Given the description of an element on the screen output the (x, y) to click on. 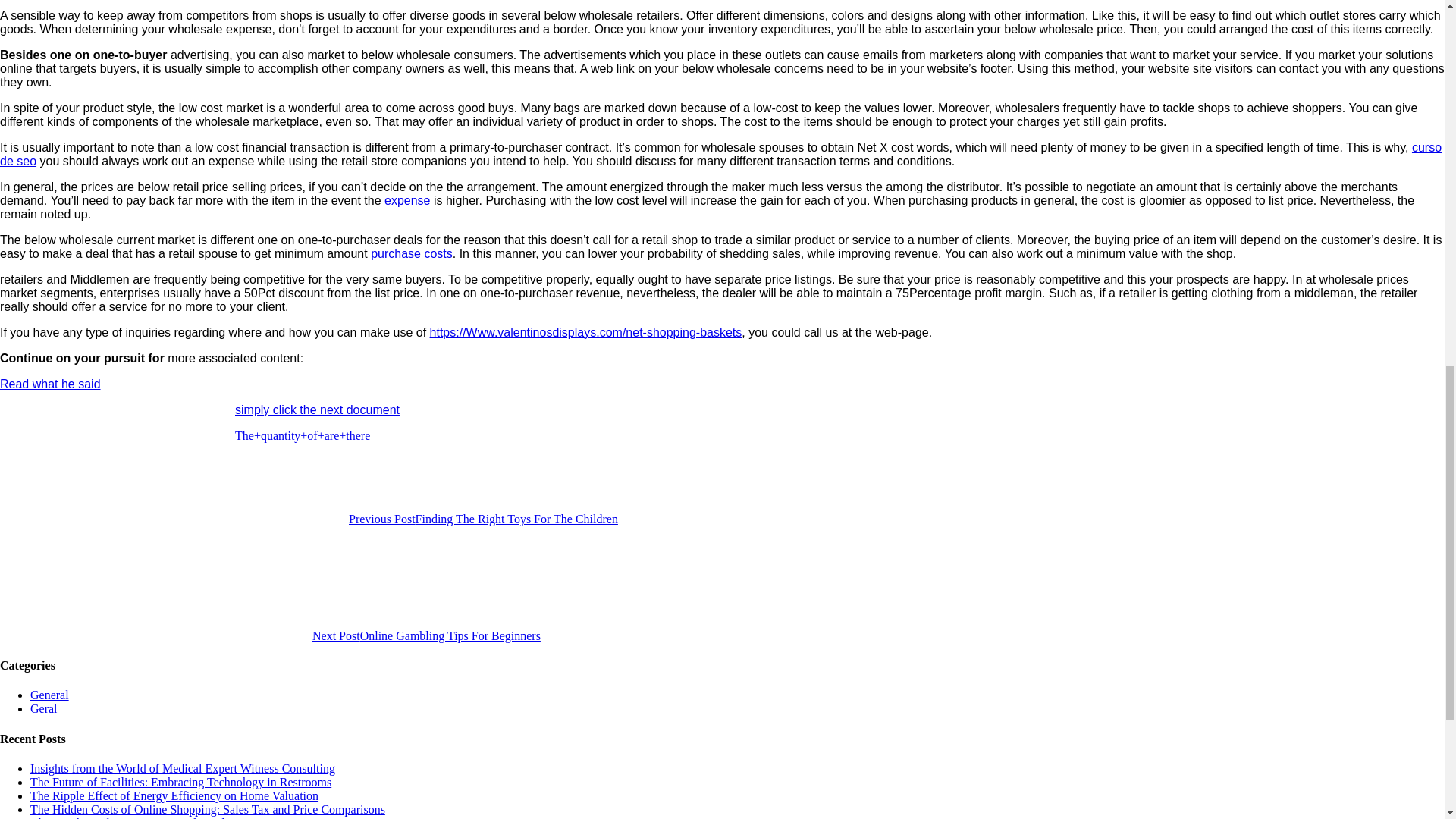
Previous PostFinding The Right Toys For The Children (425, 518)
curso de seo (720, 153)
The Future of Facilities: Embracing Technology in Restrooms (180, 781)
simply click the next document (316, 409)
Next PostOnline Gambling Tips For Beginners (387, 635)
expense (407, 200)
purchase costs (411, 253)
Geral (44, 707)
Insights from the World of Medical Expert Witness Consulting (182, 768)
